Given the description of an element on the screen output the (x, y) to click on. 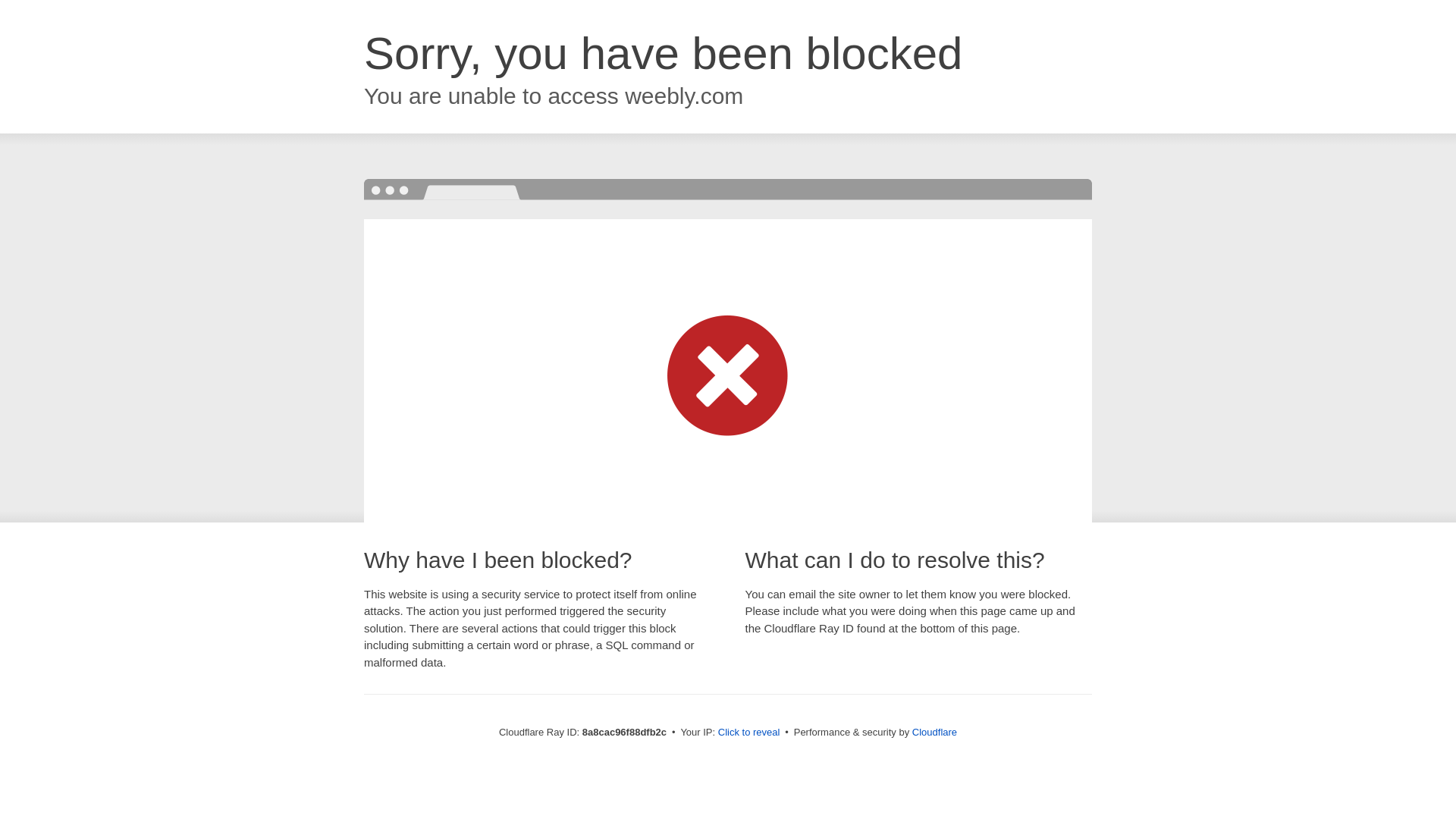
Click to reveal (748, 732)
Cloudflare (934, 731)
